Given the description of an element on the screen output the (x, y) to click on. 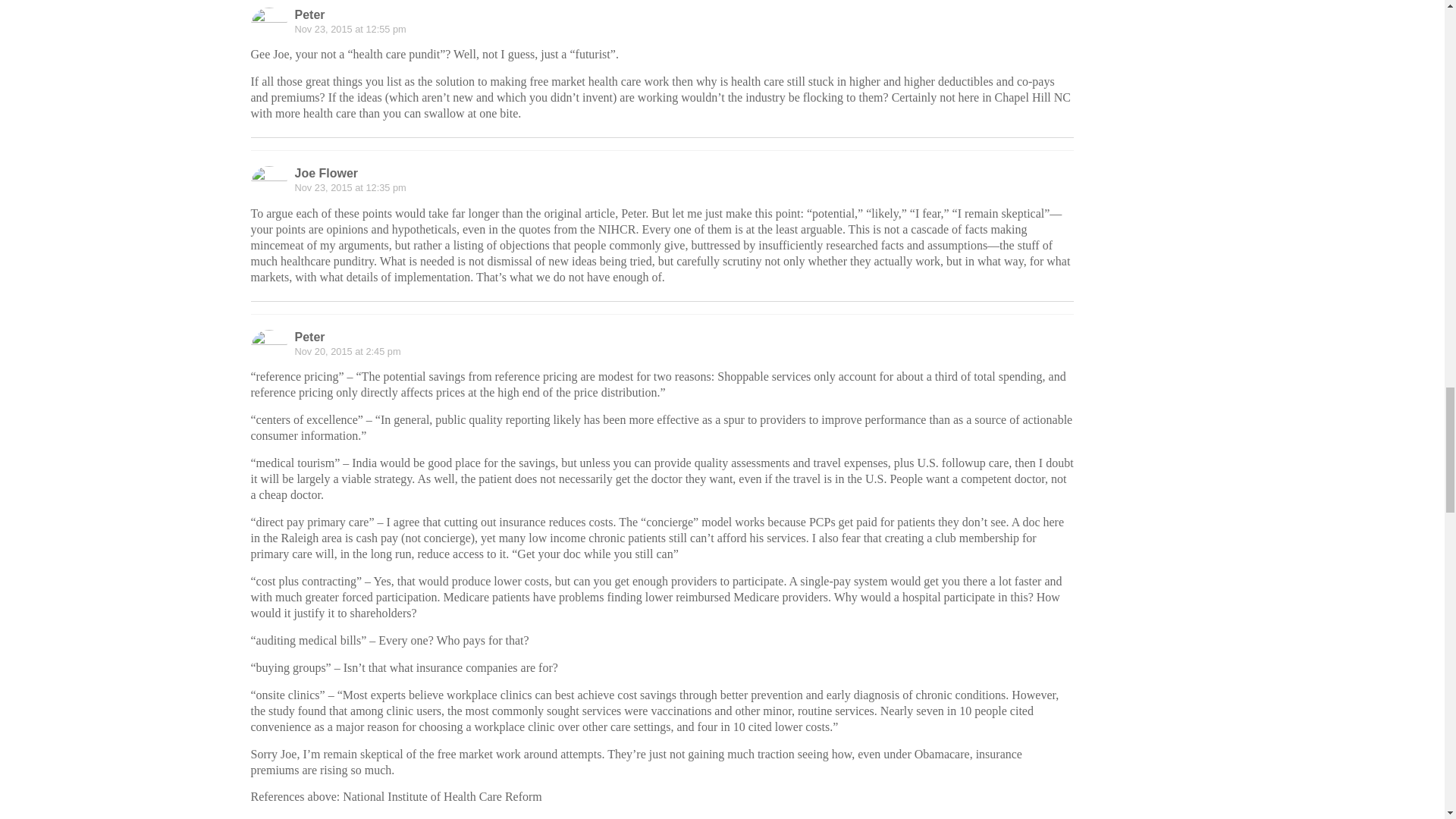
Nov 23, 2015 at 12:55 pm (350, 29)
Nov 20, 2015 at 2:45 pm (347, 351)
Nov 23, 2015 at 12:35 pm (350, 187)
